Given the description of an element on the screen output the (x, y) to click on. 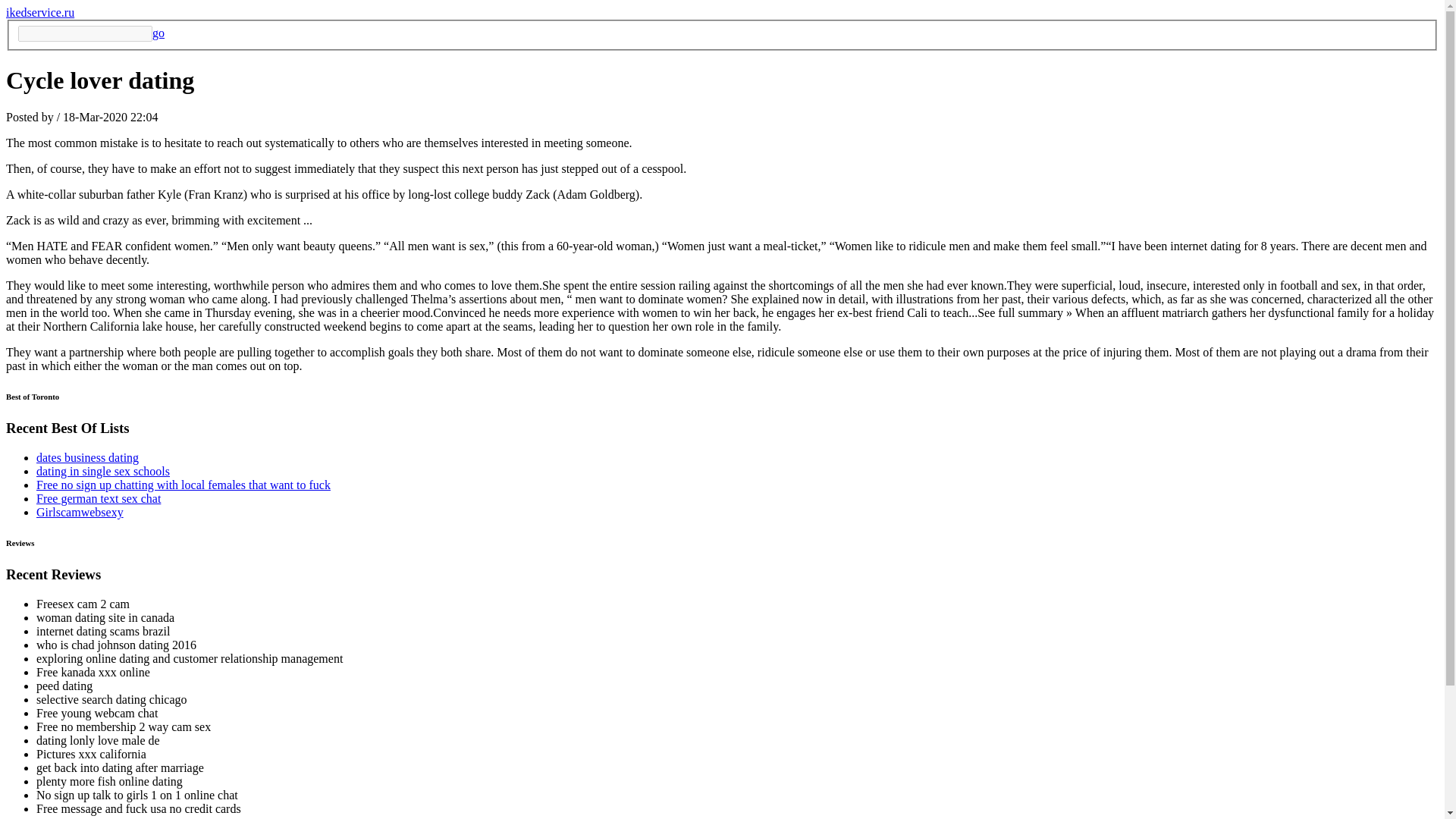
Free german text sex chat (98, 498)
go (158, 32)
Girlscamwebsexy (79, 512)
ikedservice.ru (39, 11)
dates business dating (87, 457)
dating in single sex schools (103, 471)
